Given the description of an element on the screen output the (x, y) to click on. 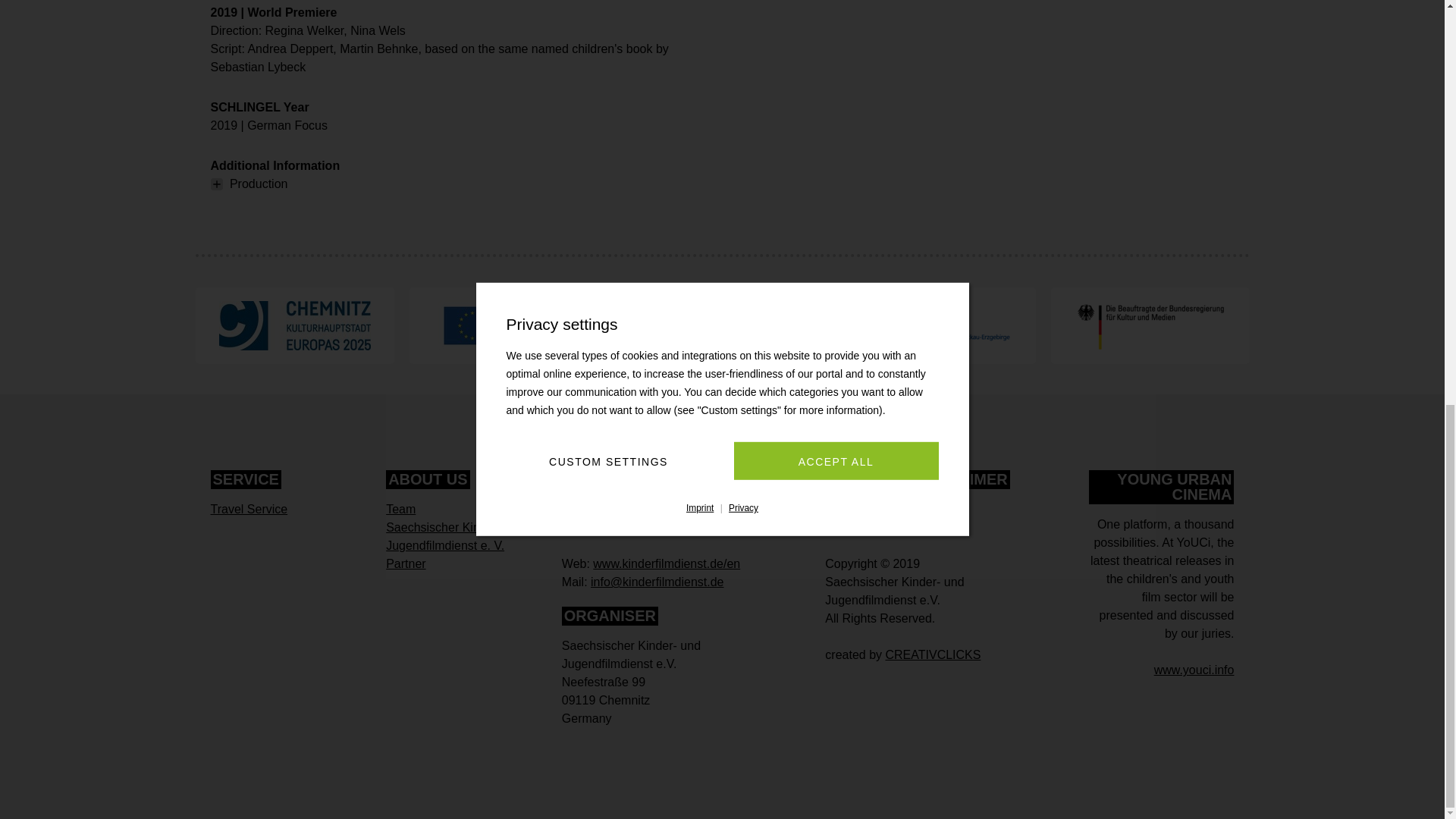
Travel Service (249, 508)
